Given the description of an element on the screen output the (x, y) to click on. 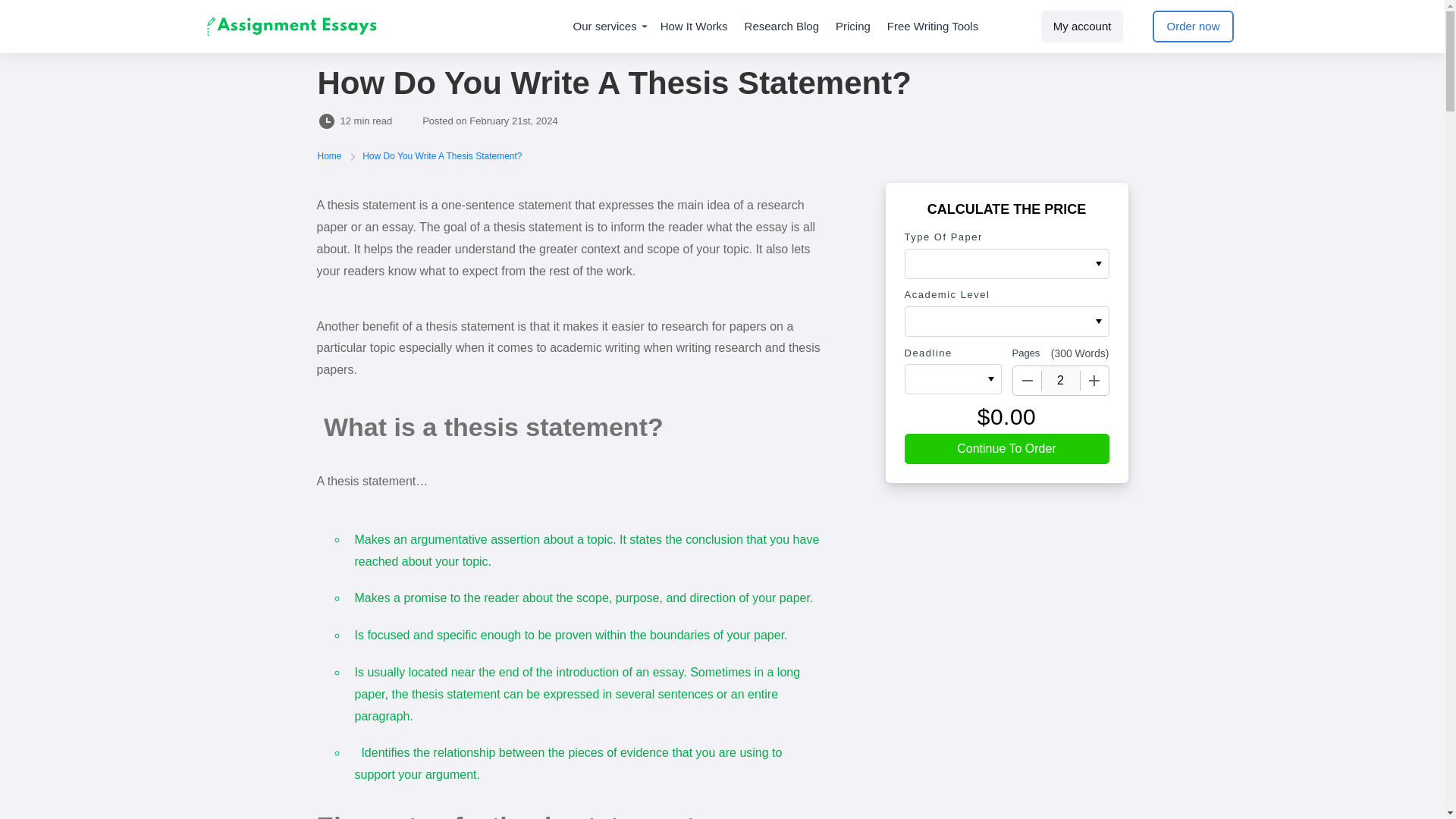
Pricing (852, 27)
2 (1061, 380)
Home (330, 155)
Continue to order (1006, 449)
How It Works (694, 27)
Decrease (1027, 380)
Continue to order (1006, 449)
Increase (1094, 380)
Order now (1193, 26)
Free Writing Tools (932, 27)
Research Blog (781, 27)
My account (1082, 26)
How Do You Write A Thesis Statement? (441, 155)
